Given the description of an element on the screen output the (x, y) to click on. 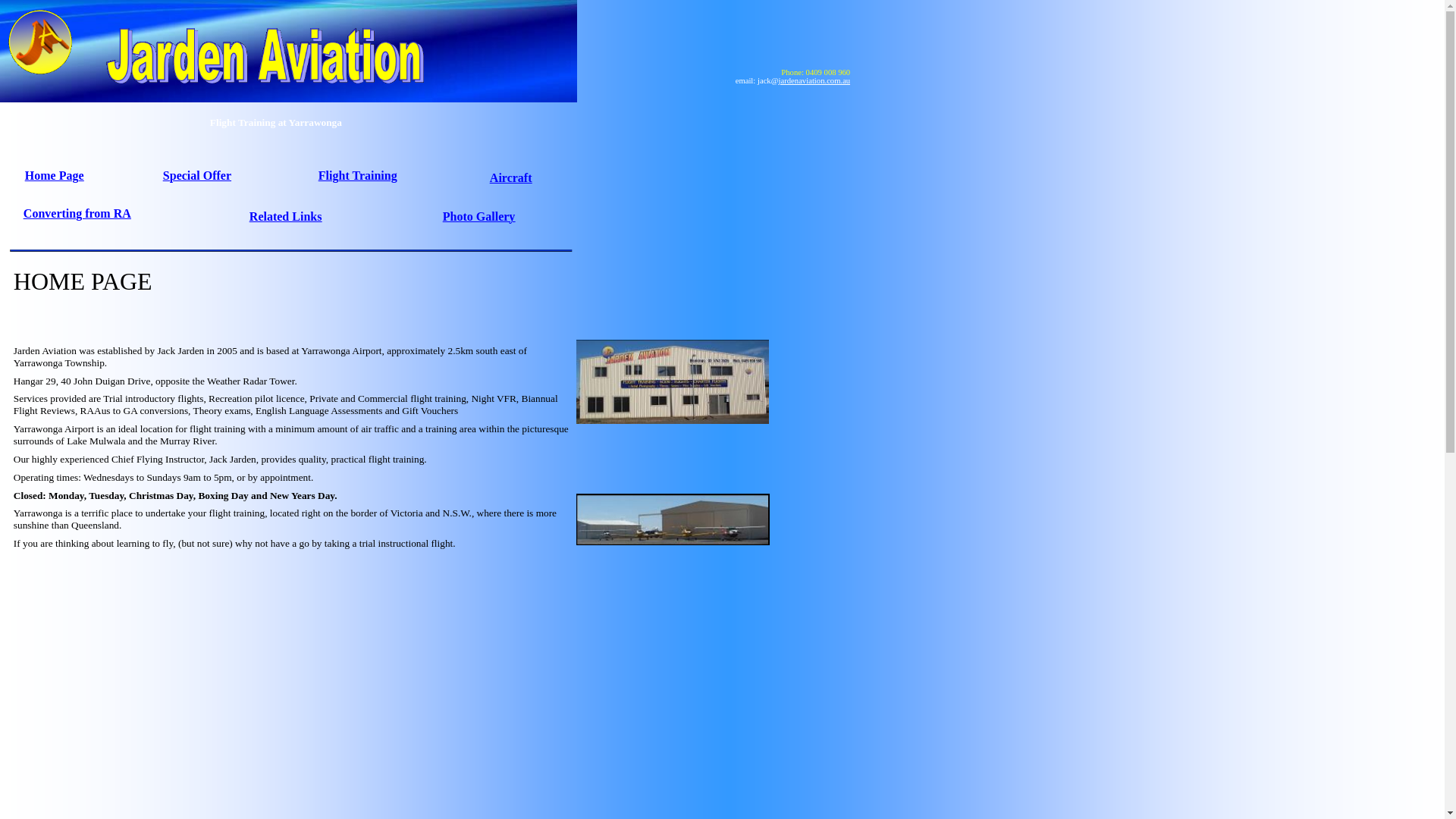
Related Links Element type: text (285, 217)
Photo Gallery Element type: text (478, 217)
jardenaviation.com.au Element type: text (814, 80)
Flight Training Element type: text (357, 176)
Aircraft Element type: text (510, 179)
Home Page Element type: text (54, 176)
Special Offer Element type: text (197, 176)
Converting from RA Element type: text (77, 214)
